Given the description of an element on the screen output the (x, y) to click on. 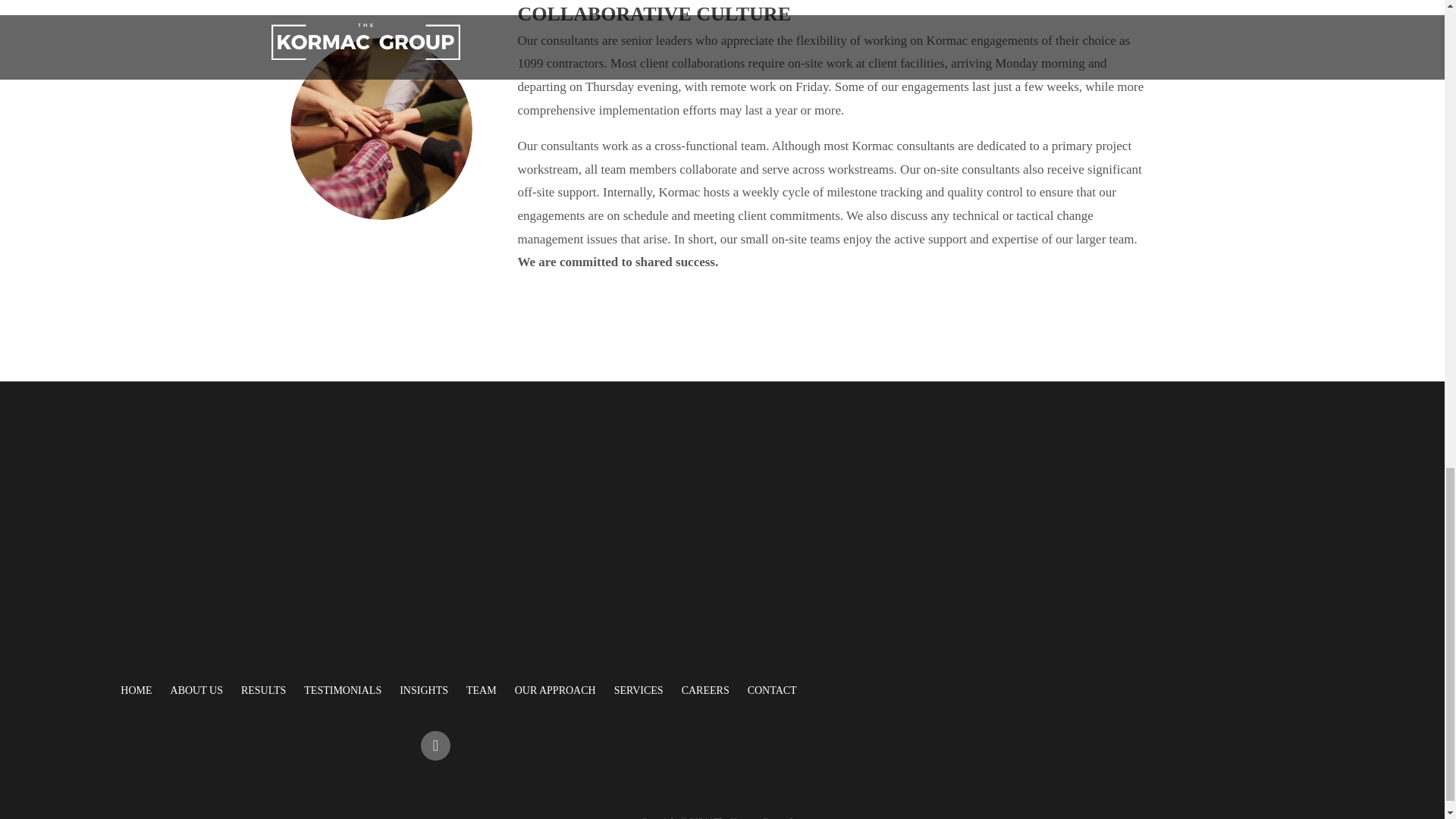
RESULTS (263, 690)
ABOUT US (196, 690)
TESTIMONIALS (342, 690)
HOME (135, 690)
